Given the description of an element on the screen output the (x, y) to click on. 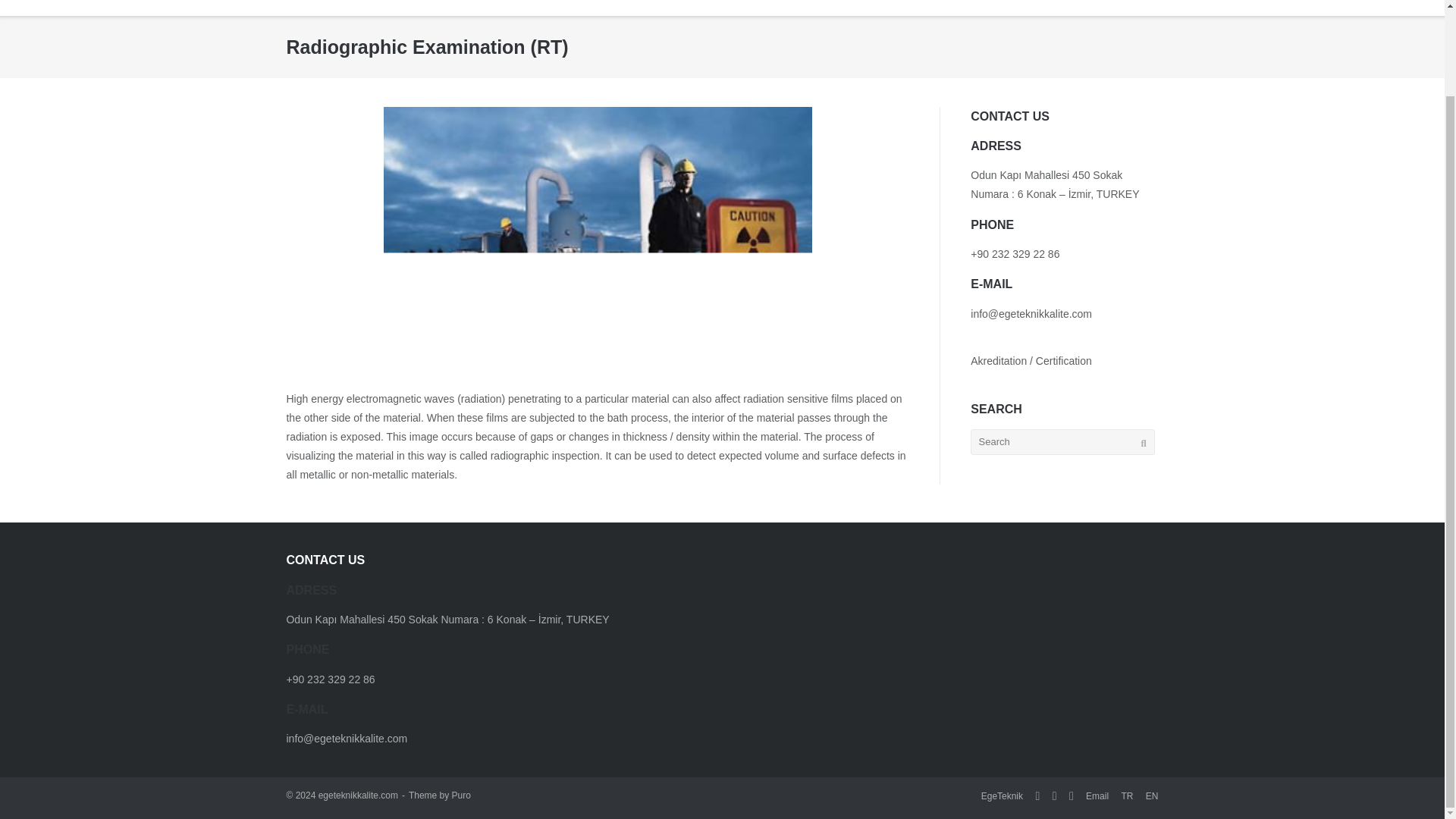
EgeTeknik (1002, 795)
Blogs (965, 7)
Contact Us (1101, 7)
Home Page (678, 7)
Certificates (903, 7)
Puro (460, 795)
egeteknikkalite.com (357, 795)
Corporate (756, 7)
Services (830, 7)
References (1027, 7)
